Given the description of an element on the screen output the (x, y) to click on. 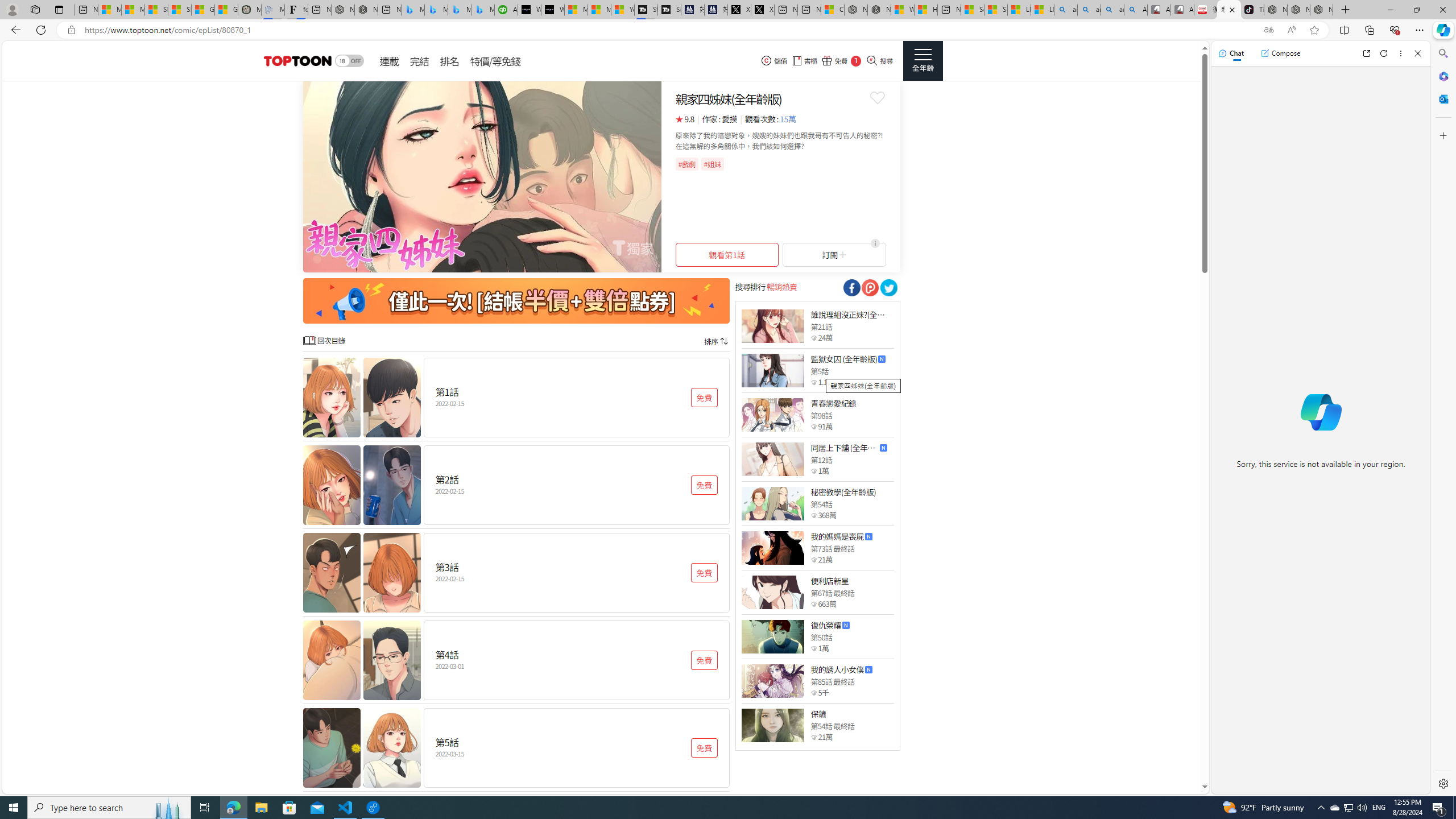
Streaming Coverage | T3 (645, 9)
Class: side_menu_btn actionRightMenuBtn (922, 60)
Nordace - Siena Pro 15 Essential Set (1321, 9)
Microsoft Start (598, 9)
